Given the description of an element on the screen output the (x, y) to click on. 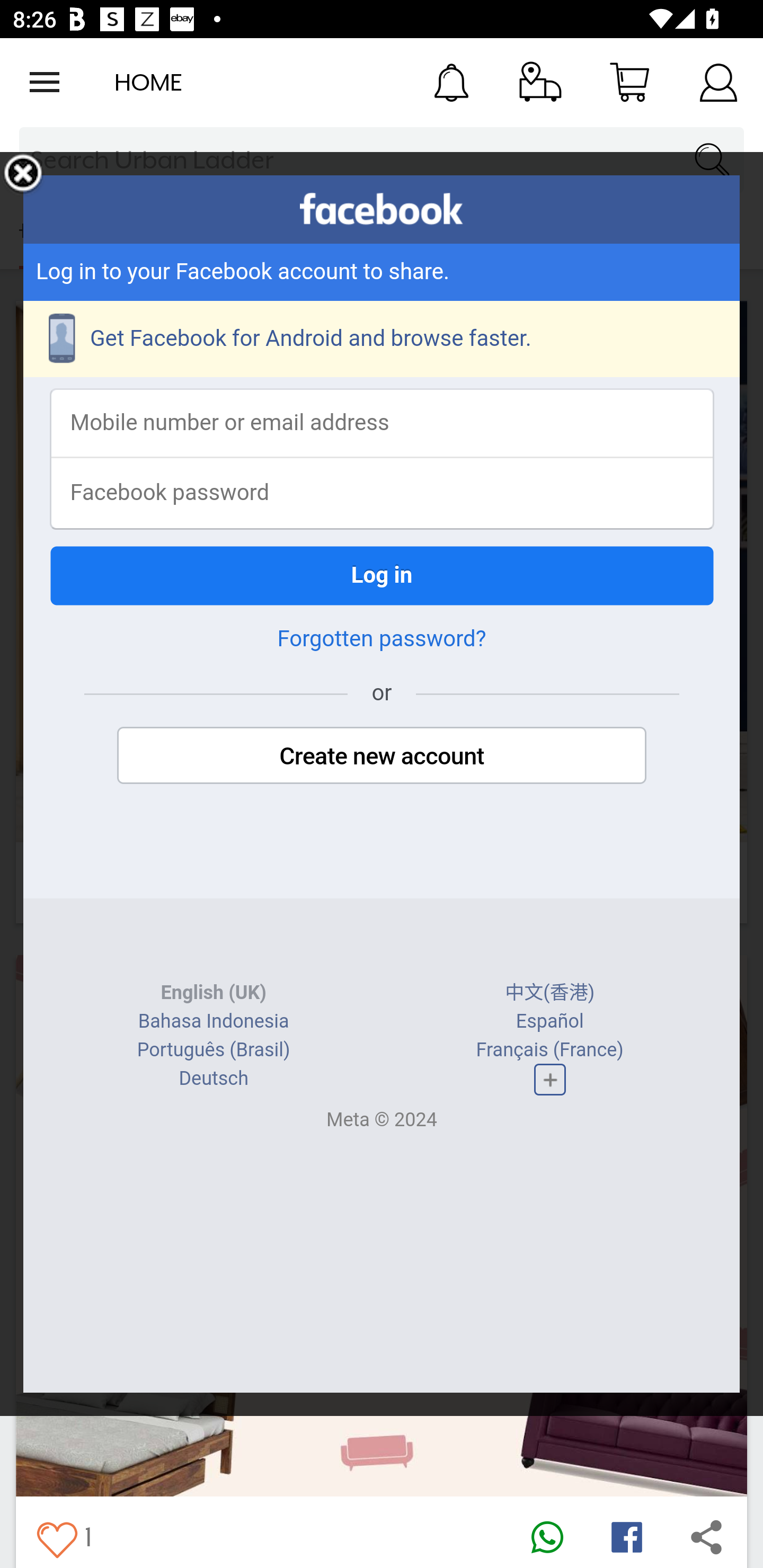
facebook (381, 208)
Get Facebook for Android and browse faster. (381, 339)
Log in (381, 575)
Forgotten password? (381, 638)
Create new account (381, 755)
中文(香港) (550, 993)
Bahasa Indonesia (214, 1021)
Español (549, 1021)
Português (Brasil) (212, 1049)
Français (France) (549, 1049)
Complete list of languages (548, 1079)
Deutsch (212, 1078)
